Given the description of an element on the screen output the (x, y) to click on. 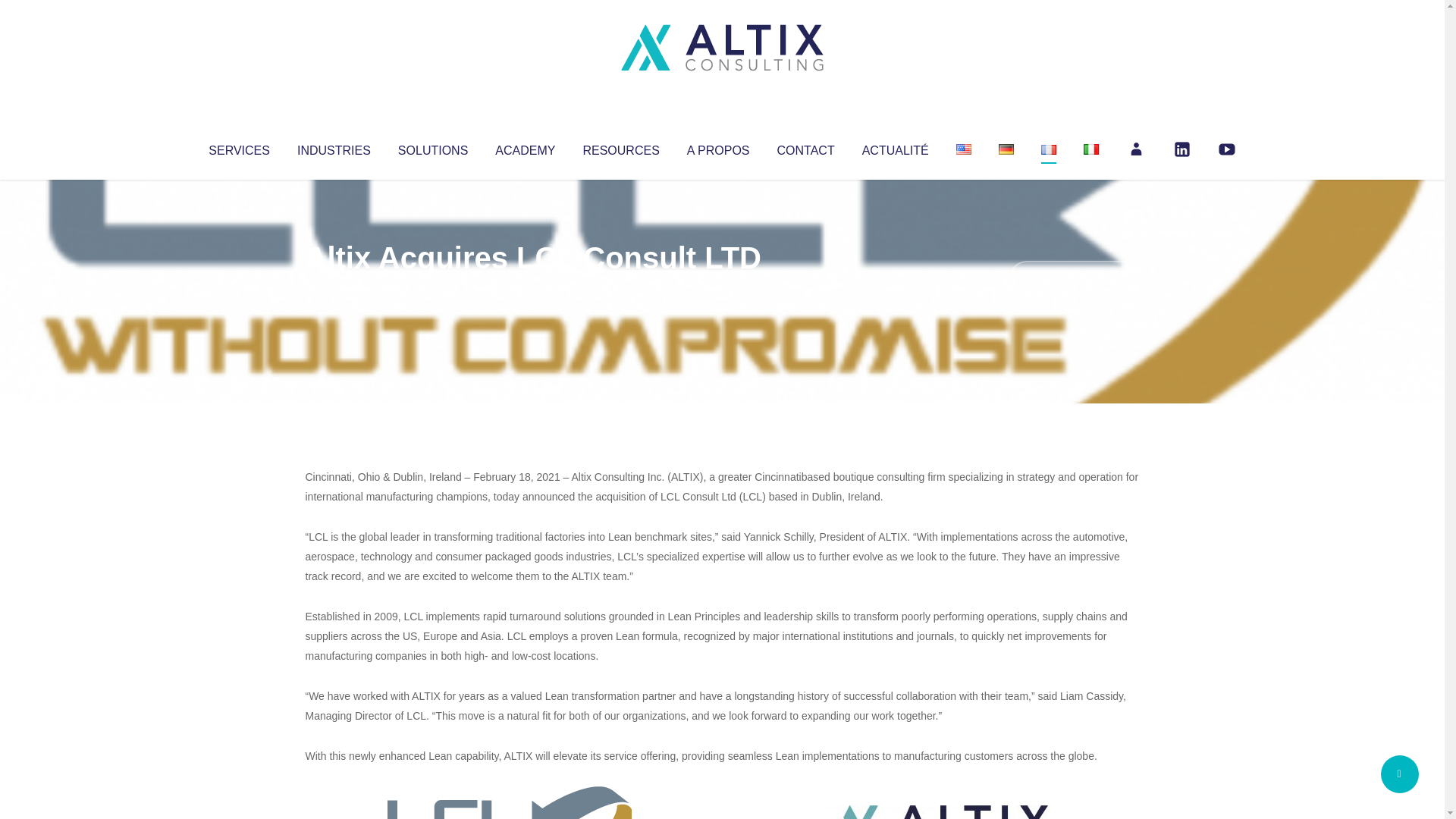
INDUSTRIES (334, 146)
Altix (333, 287)
Articles par Altix (333, 287)
Uncategorized (530, 287)
SERVICES (238, 146)
SOLUTIONS (432, 146)
No Comments (1073, 278)
A PROPOS (718, 146)
RESOURCES (620, 146)
ACADEMY (524, 146)
